Given the description of an element on the screen output the (x, y) to click on. 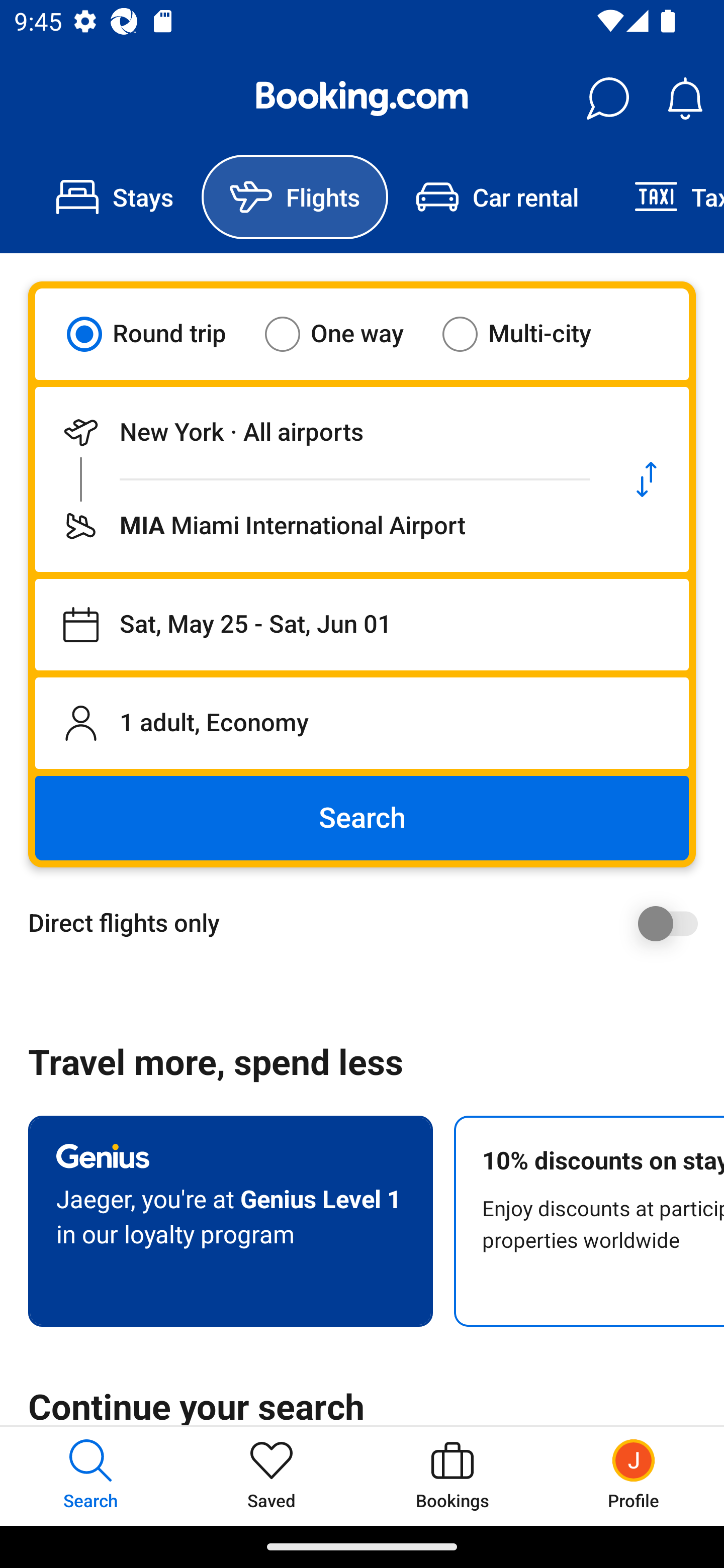
Messages (607, 98)
Notifications (685, 98)
Stays (114, 197)
Flights (294, 197)
Car rental (497, 197)
Taxi (665, 197)
One way (346, 333)
Multi-city (528, 333)
Departing from New York · All airports (319, 432)
Swap departure location and destination (646, 479)
Flying to MIA Miami International Airport (319, 525)
Departing on Sat, May 25, returning on Sat, Jun 01 (361, 624)
1 adult, Economy (361, 722)
Search (361, 818)
Direct flights only (369, 923)
Saved (271, 1475)
Bookings (452, 1475)
Profile (633, 1475)
